Given the description of an element on the screen output the (x, y) to click on. 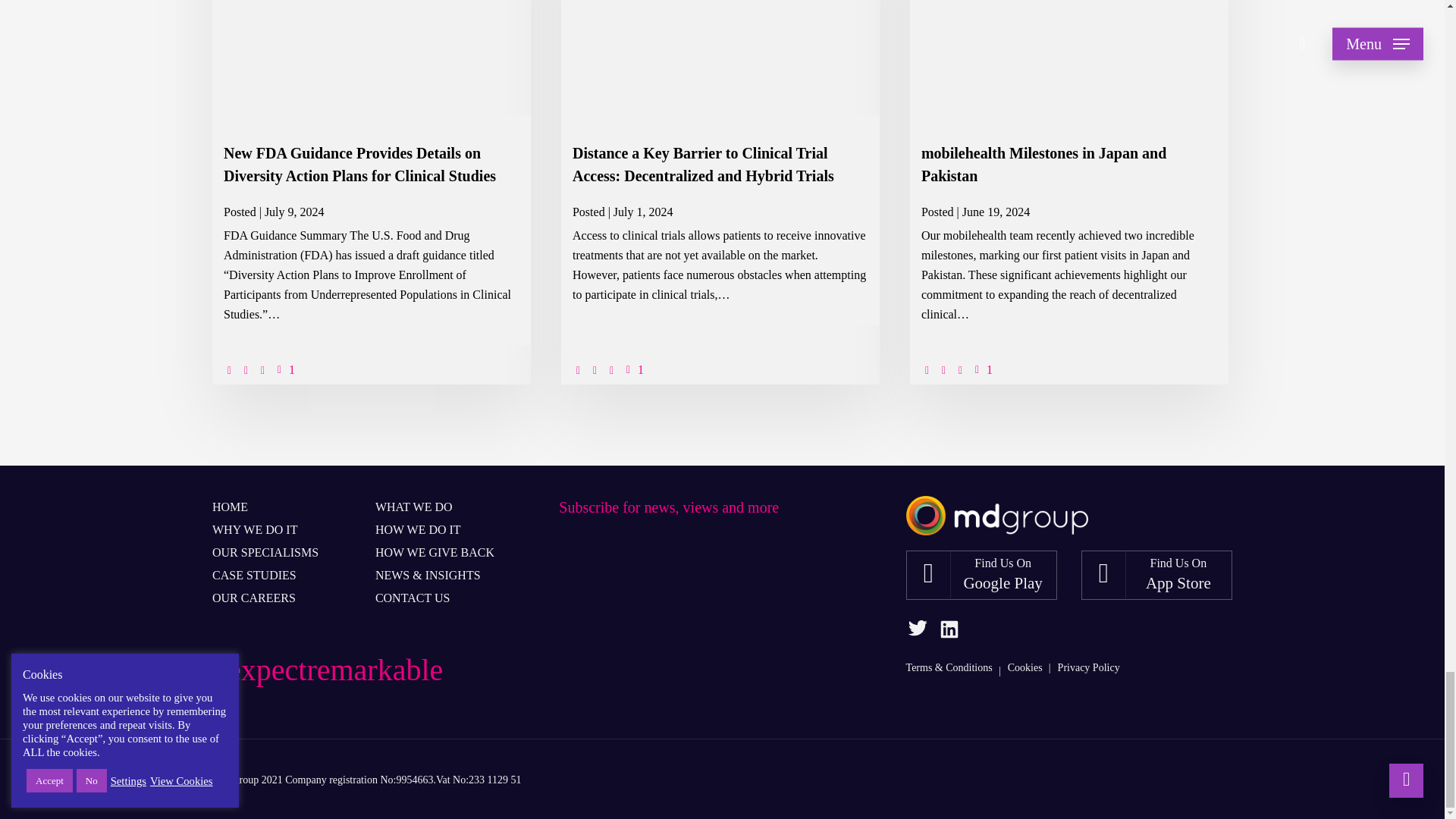
Share on Twitter (579, 368)
Read More (501, 370)
Read More (849, 370)
Share on Facebook (961, 368)
Share on Twitter (230, 368)
Love this (284, 369)
Share on Linkedin (944, 368)
Love this (633, 369)
Share on Facebook (612, 368)
Share on Linkedin (246, 368)
